Given the description of an element on the screen output the (x, y) to click on. 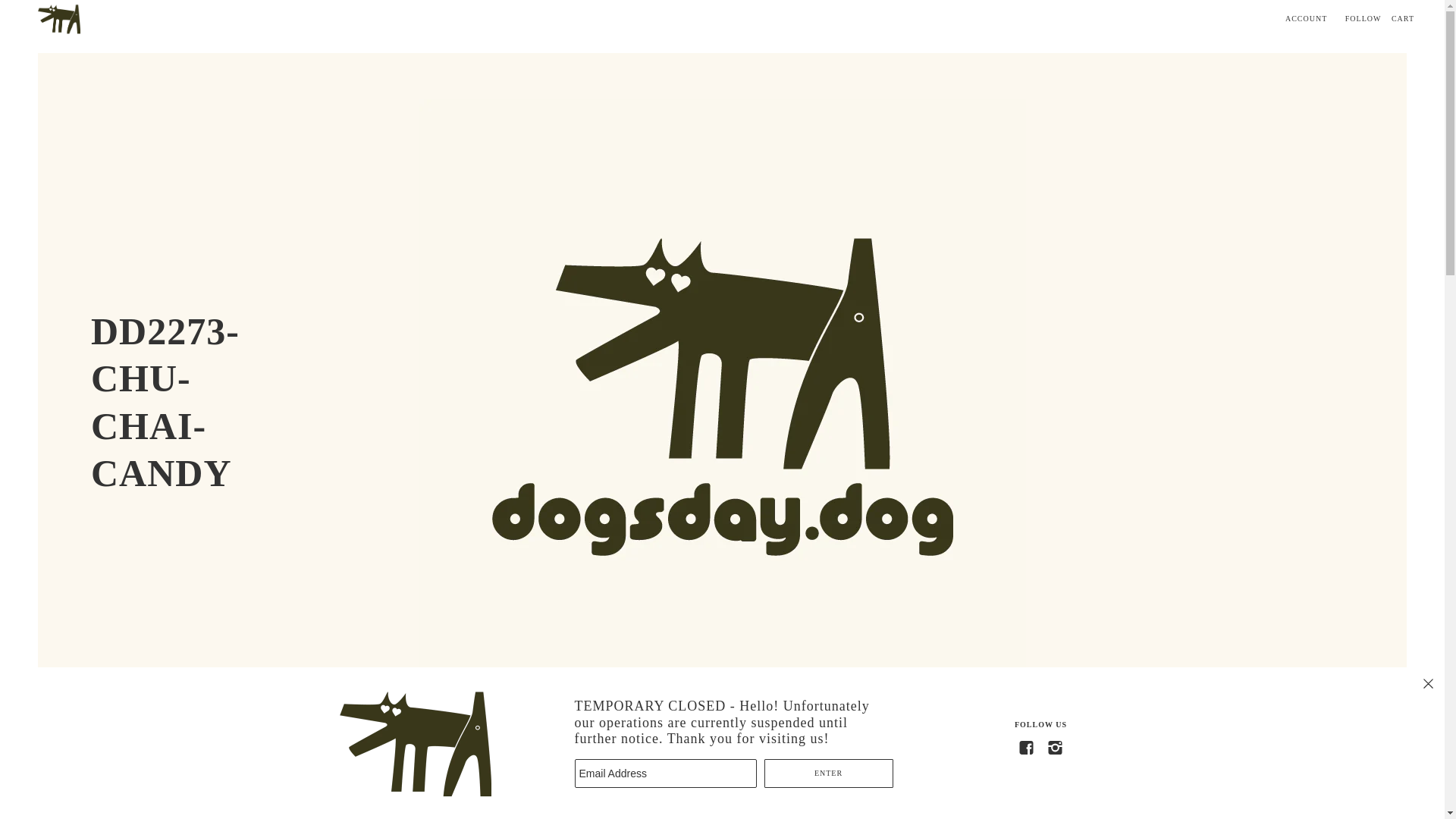
Facebook (1026, 747)
DD2273-CHU-CHAI-CANDY (169, 402)
Enter (828, 773)
Enter (828, 773)
CART (1402, 18)
dogsday.dog (58, 18)
FOLLOW (1363, 18)
ADD TO CART (1354, 784)
Instagram (1054, 747)
ACCOUNT (1306, 18)
